Given the description of an element on the screen output the (x, y) to click on. 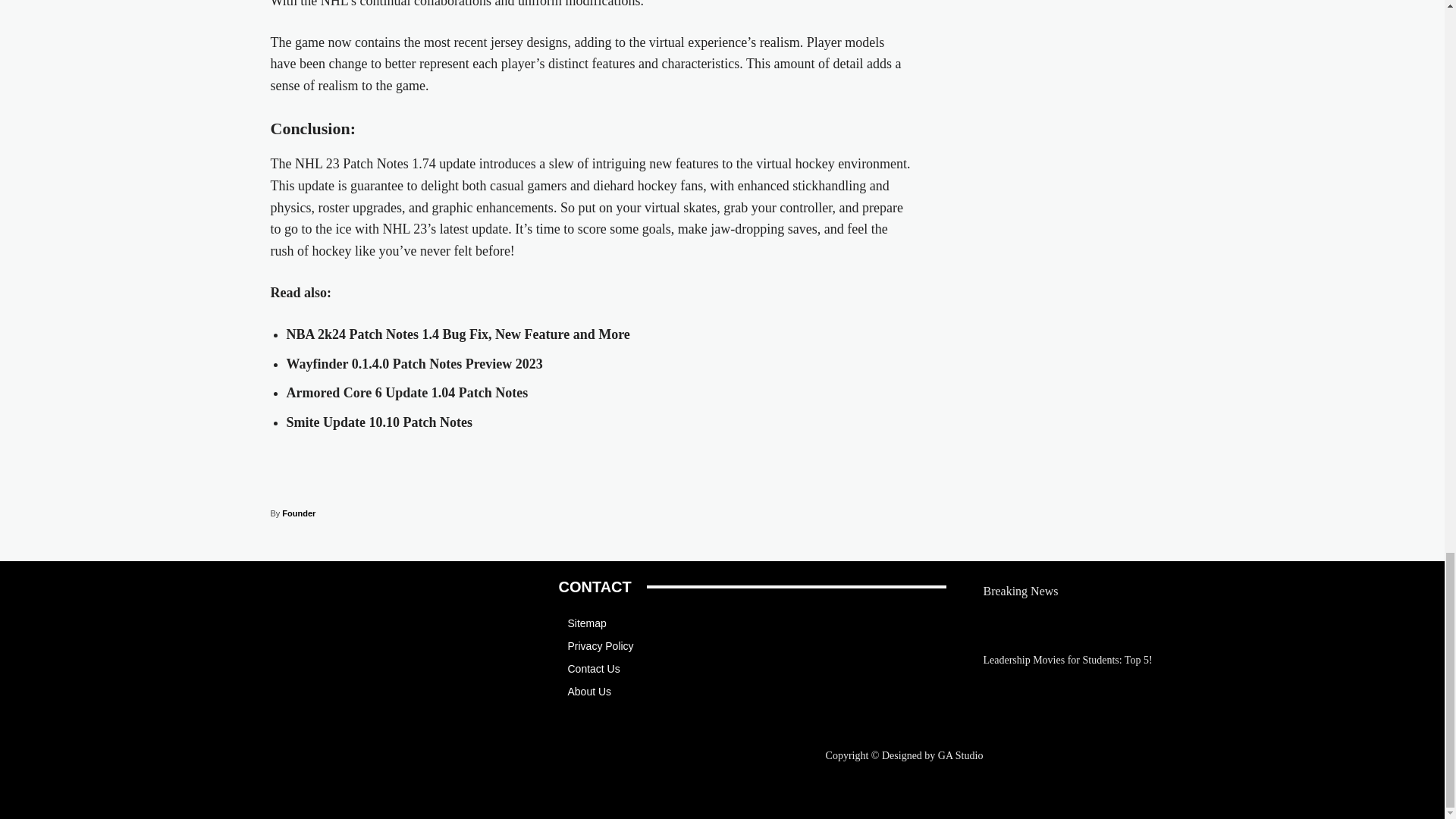
NBA 2k24 Patch Notes 1.4 Bug Fix, New Feature and More (458, 334)
Armored Core 6 Update 1.04 Patch Notes (407, 392)
Wayfinder 0.1.4.0 Patch Notes Preview 2023 (414, 363)
